Given the description of an element on the screen output the (x, y) to click on. 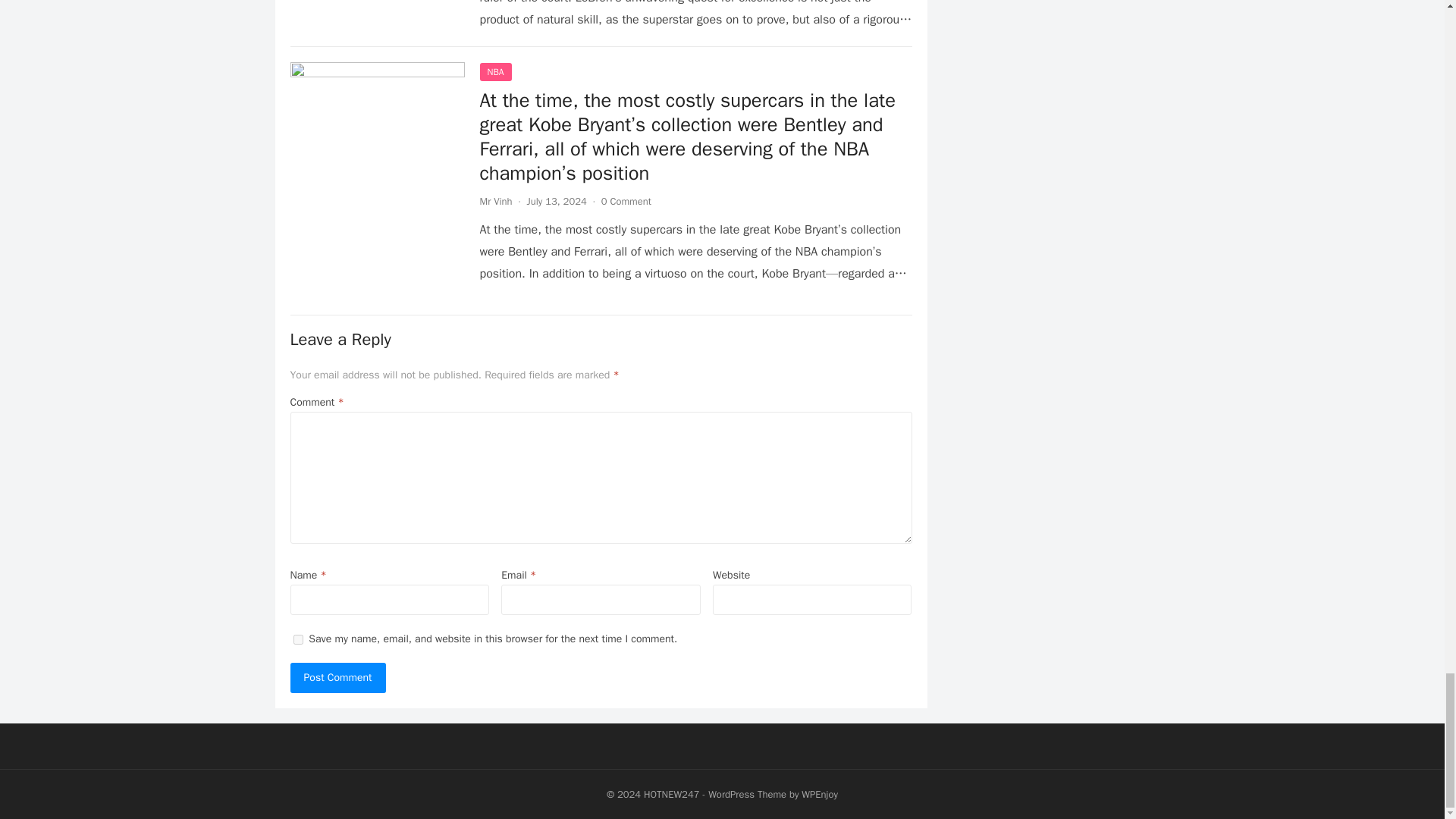
Posts by Mr Vinh (495, 201)
yes (297, 639)
NBA (495, 72)
Post Comment (337, 677)
